Given the description of an element on the screen output the (x, y) to click on. 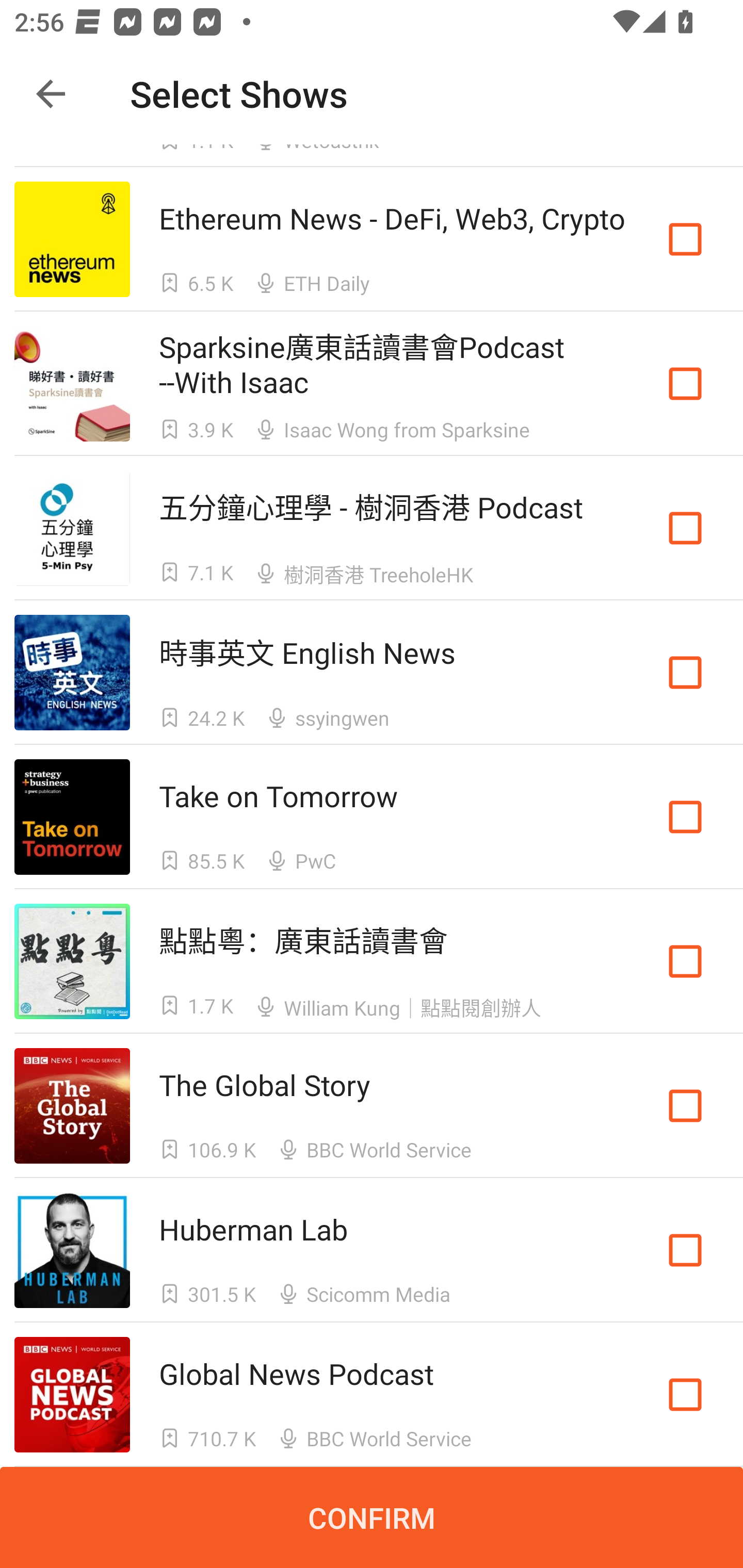
Navigate up (50, 93)
Take on Tomorrow Take on Tomorrow  85.5 K  PwC (371, 816)
CONFIRM (371, 1517)
